Given the description of an element on the screen output the (x, y) to click on. 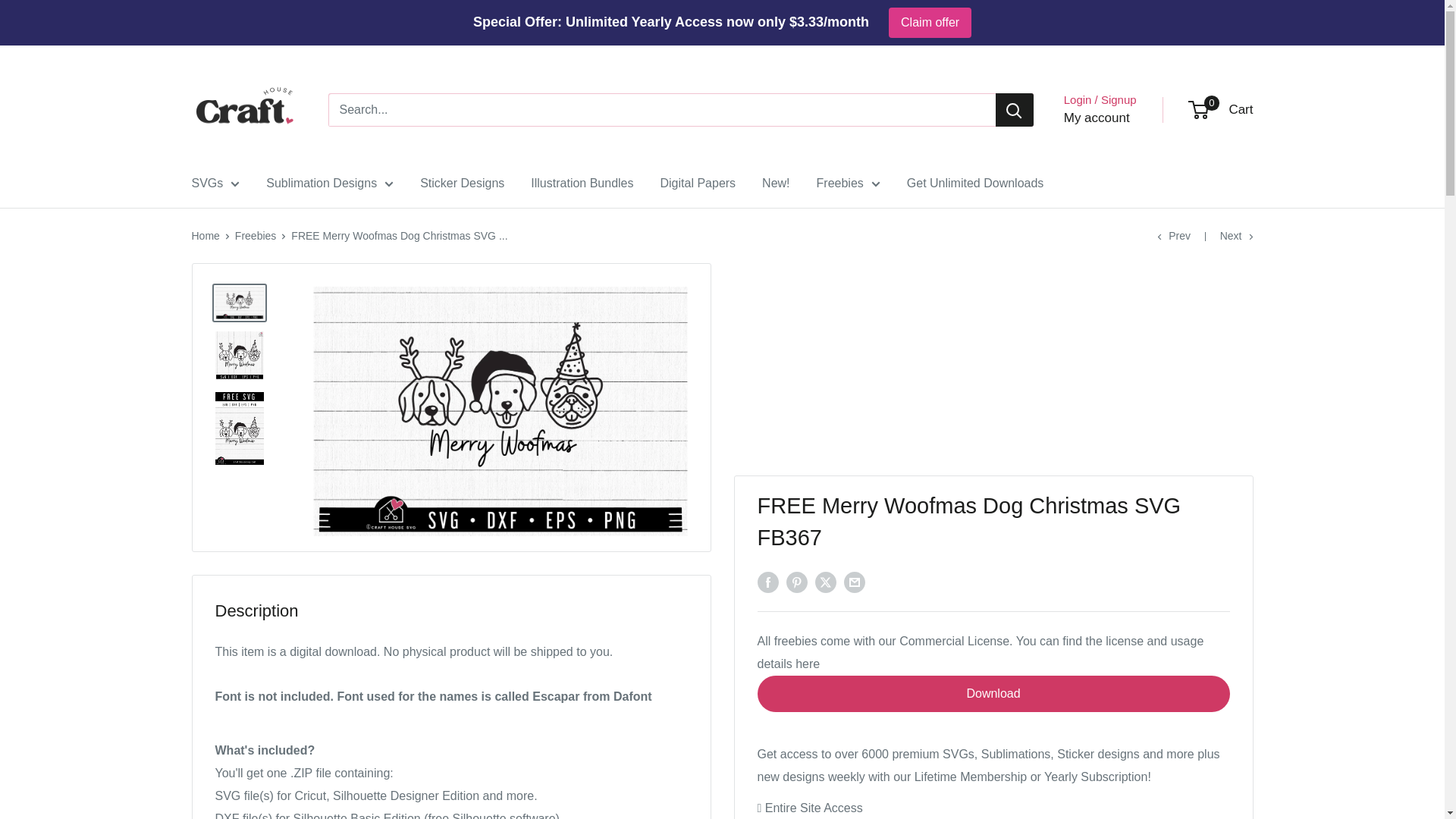
SVGs (215, 182)
Sublimation Designs (329, 182)
Claim offer (929, 22)
Craft House SVG (1221, 109)
Advertisement (243, 109)
My account (993, 368)
